Given the description of an element on the screen output the (x, y) to click on. 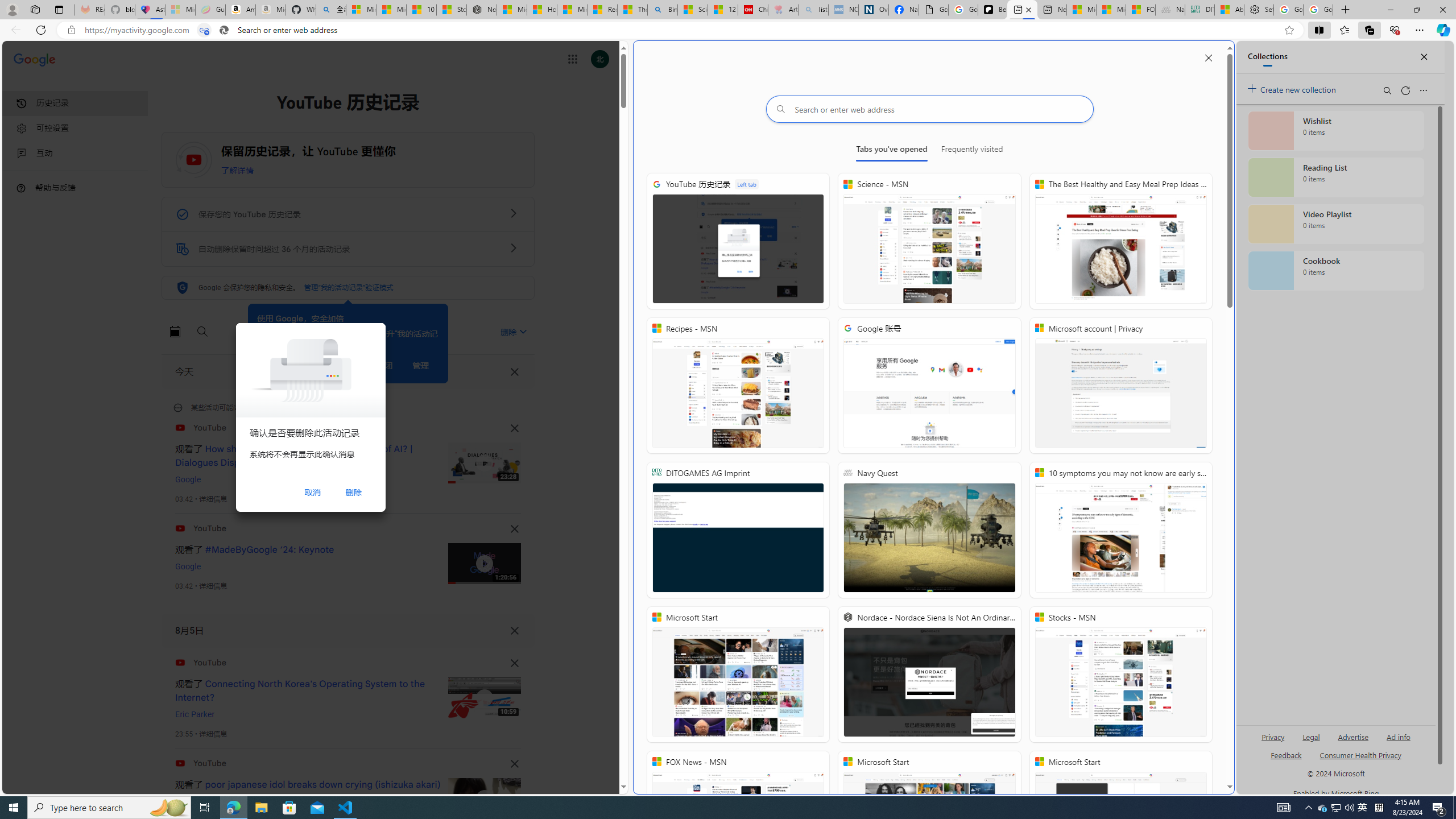
Google Analytics Opt-out Browser Add-on Download Page (933, 9)
